Given the description of an element on the screen output the (x, y) to click on. 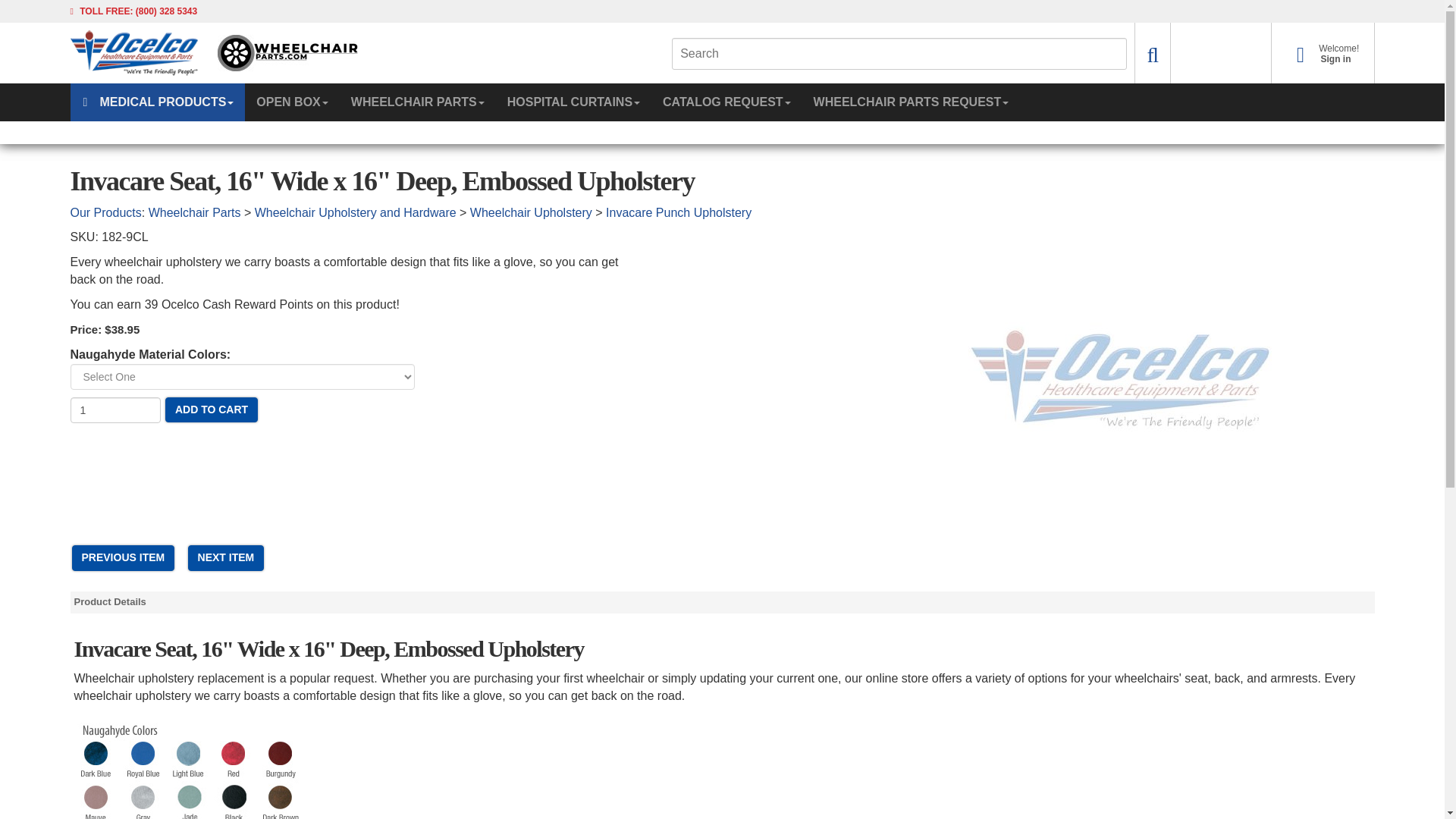
Wheelchair Parts (1319, 59)
Catalog Request (417, 102)
MEDICAL PRODUCTS (726, 102)
1 (156, 102)
Wheelchair Parts Request (114, 410)
Hospital Curtains (911, 102)
Open Box (573, 102)
